Given the description of an element on the screen output the (x, y) to click on. 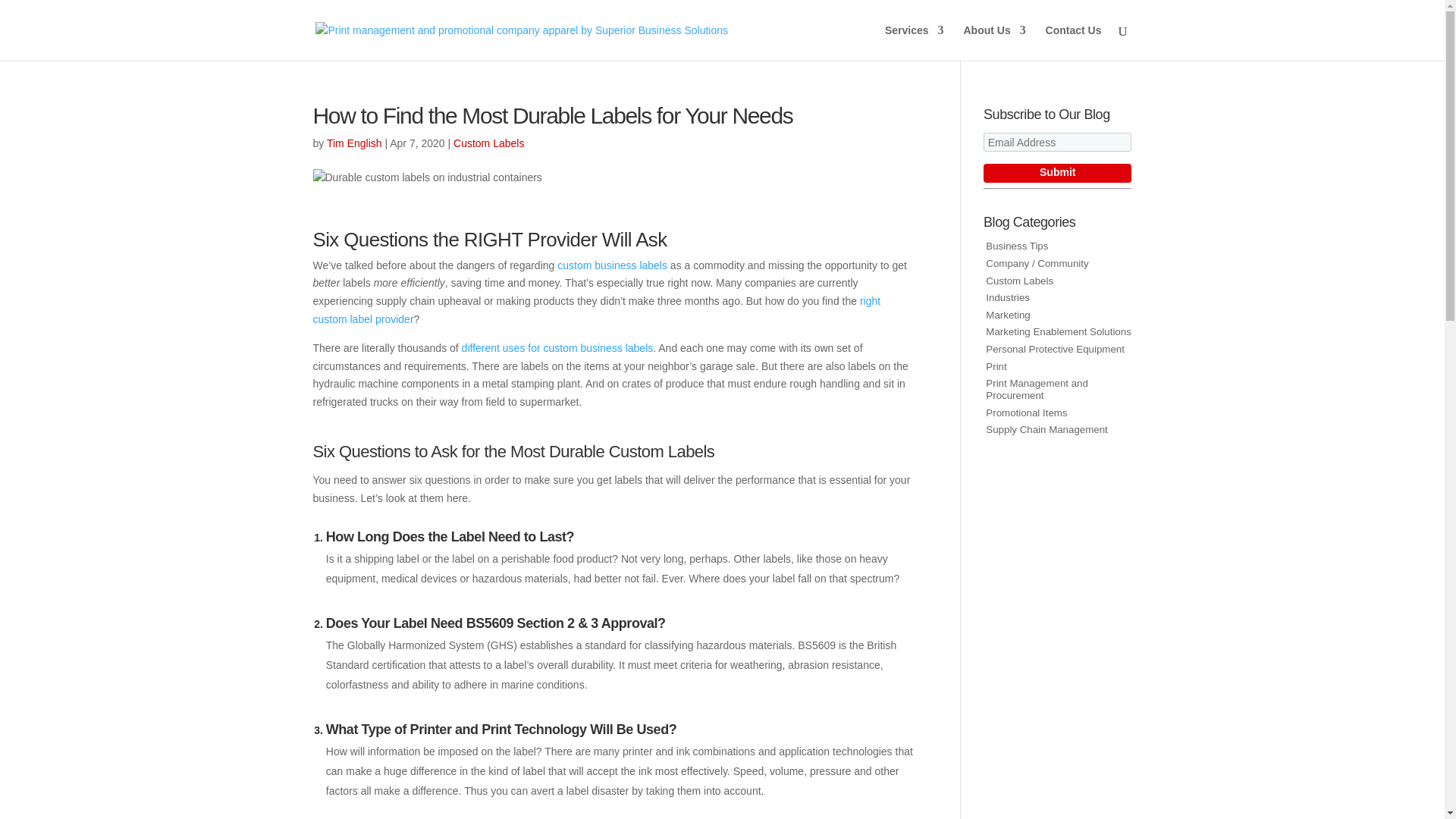
Personal Protective Equipment (1054, 348)
Submit (1057, 173)
Industries (1007, 297)
Custom Labels (1018, 280)
Marketing (1007, 315)
Tim English (353, 143)
Promotional Items (1026, 412)
Services (914, 42)
Business Tips (1016, 245)
Marketing Enablement Solutions (1058, 331)
